Given the description of an element on the screen output the (x, y) to click on. 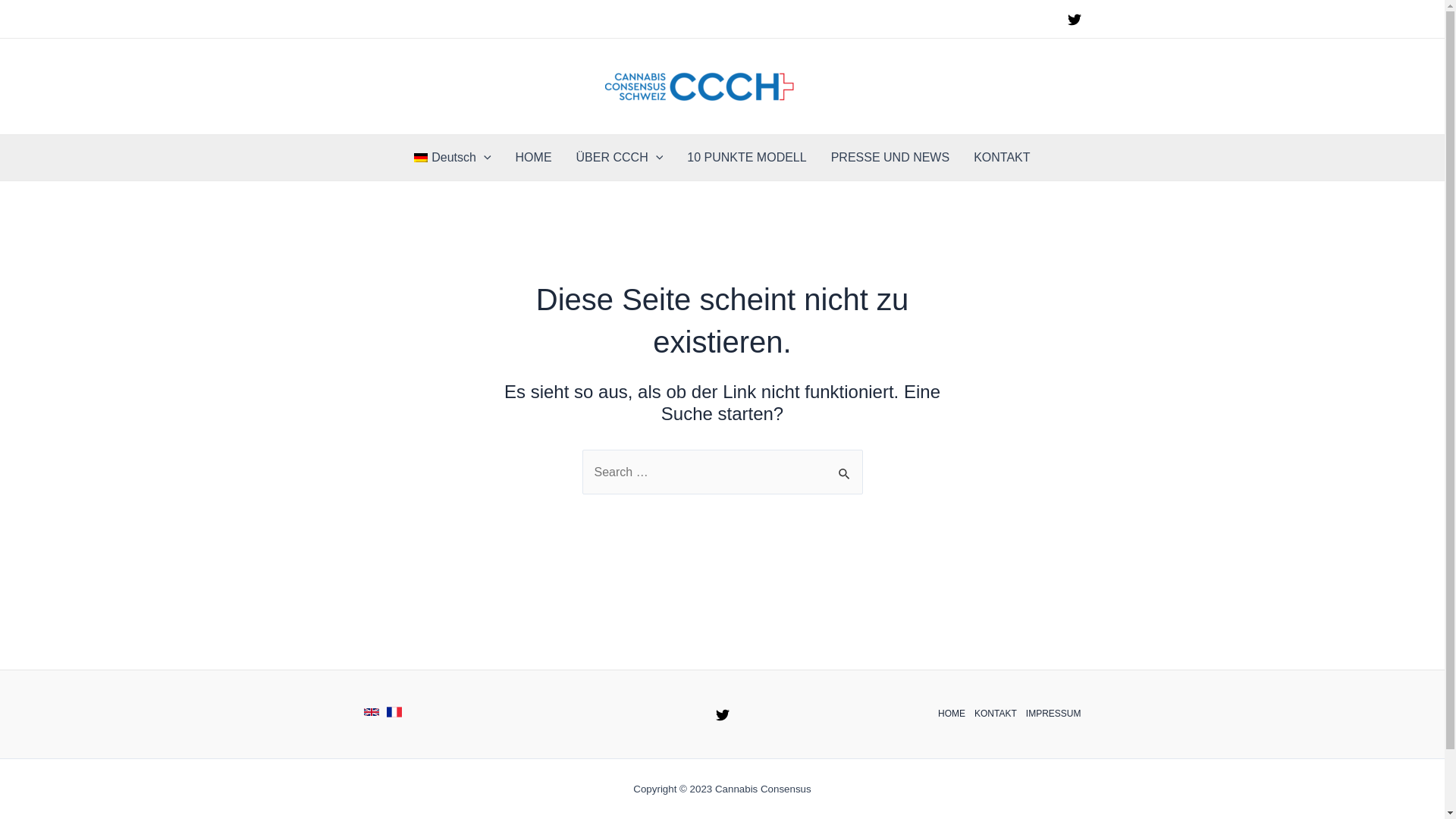
PRESSE UND NEWS Element type: text (890, 157)
HOME Element type: text (953, 714)
10 PUNKTE MODELL Element type: text (746, 157)
KONTAKT Element type: text (995, 714)
HOME Element type: text (533, 157)
Deutsch Element type: text (451, 157)
Cannabis Consensus Element type: text (835, 85)
KONTAKT Element type: text (1001, 157)
Suche Element type: text (845, 465)
IMPRESSUM Element type: text (1051, 714)
